Given the description of an element on the screen output the (x, y) to click on. 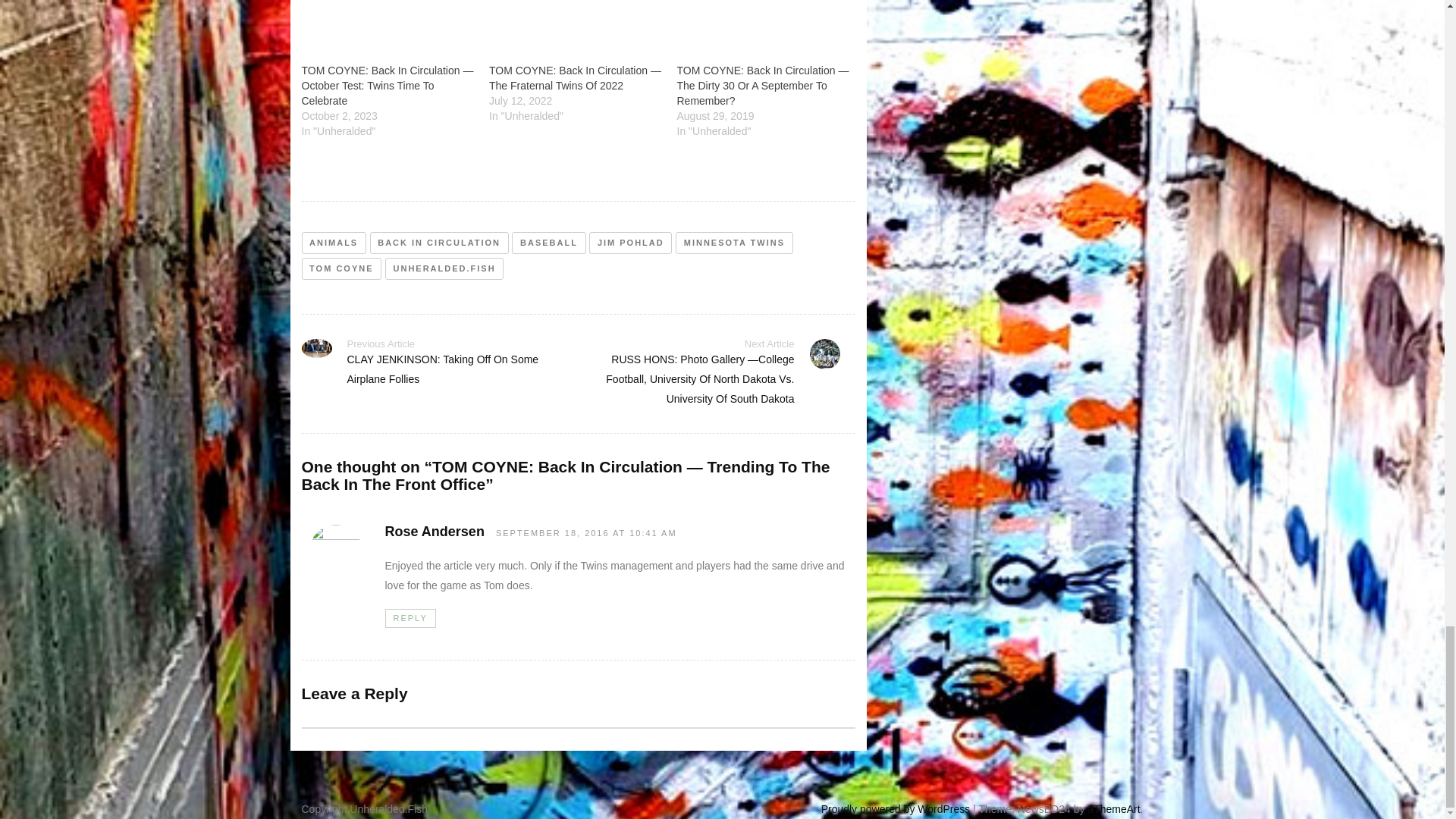
TOM COYNE (341, 268)
MINNESOTA TWINS (733, 242)
CLAY JENKINSON: Taking Off On Some Airplane Follies (442, 368)
REPLY (410, 618)
BACK IN CIRCULATION (438, 242)
JIM POHLAD (630, 242)
BASEBALL (548, 242)
ANIMALS (333, 242)
UNHERALDED.FISH (444, 268)
